Given the description of an element on the screen output the (x, y) to click on. 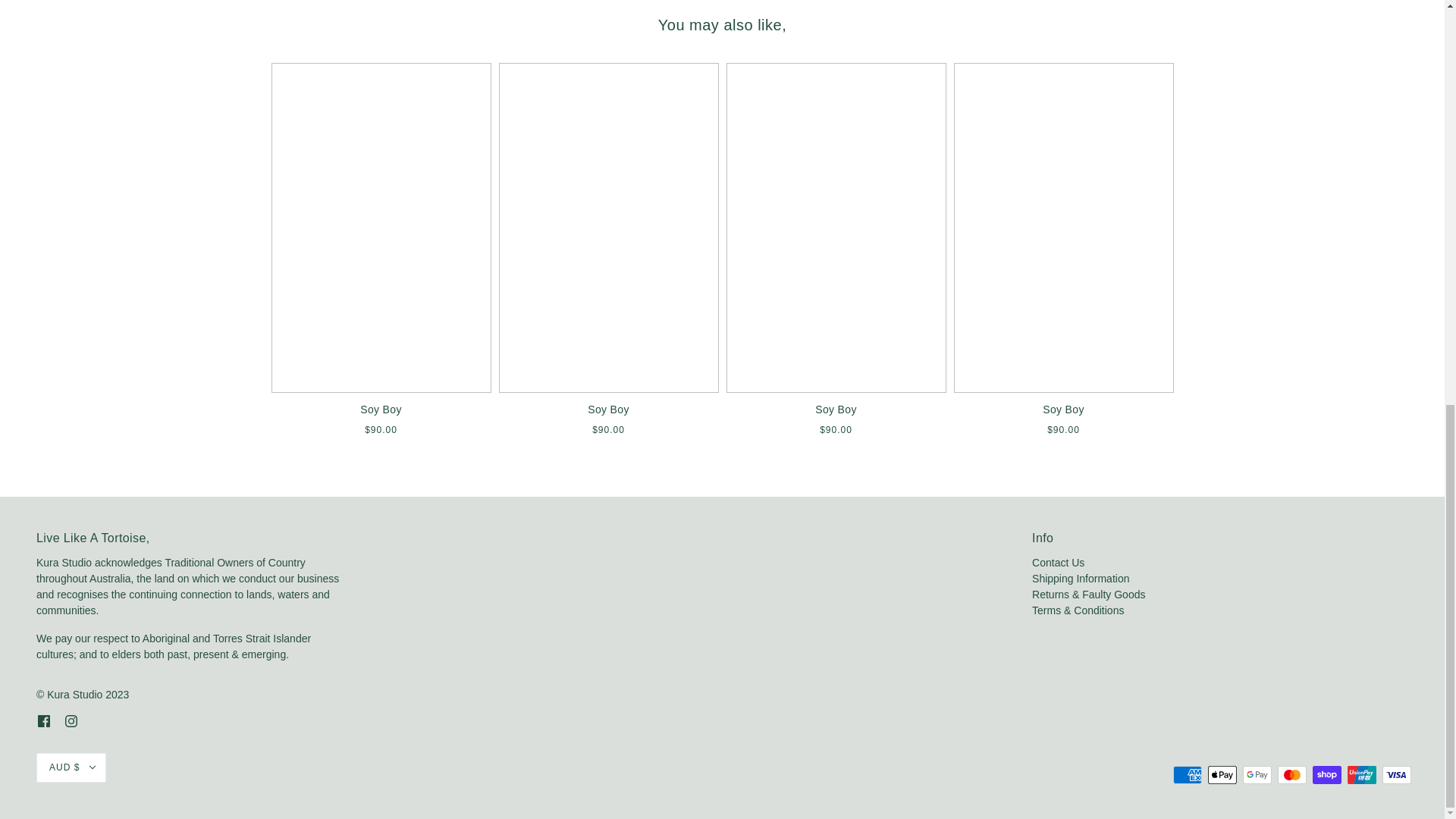
Visa (1395, 774)
Union Pay (1361, 774)
Google Pay (1257, 774)
Mastercard (1292, 774)
American Express (1187, 774)
Shop Pay (1326, 774)
Contact Us (1058, 562)
Shipping Information (1080, 578)
Apple Pay (1222, 774)
